Given the description of an element on the screen output the (x, y) to click on. 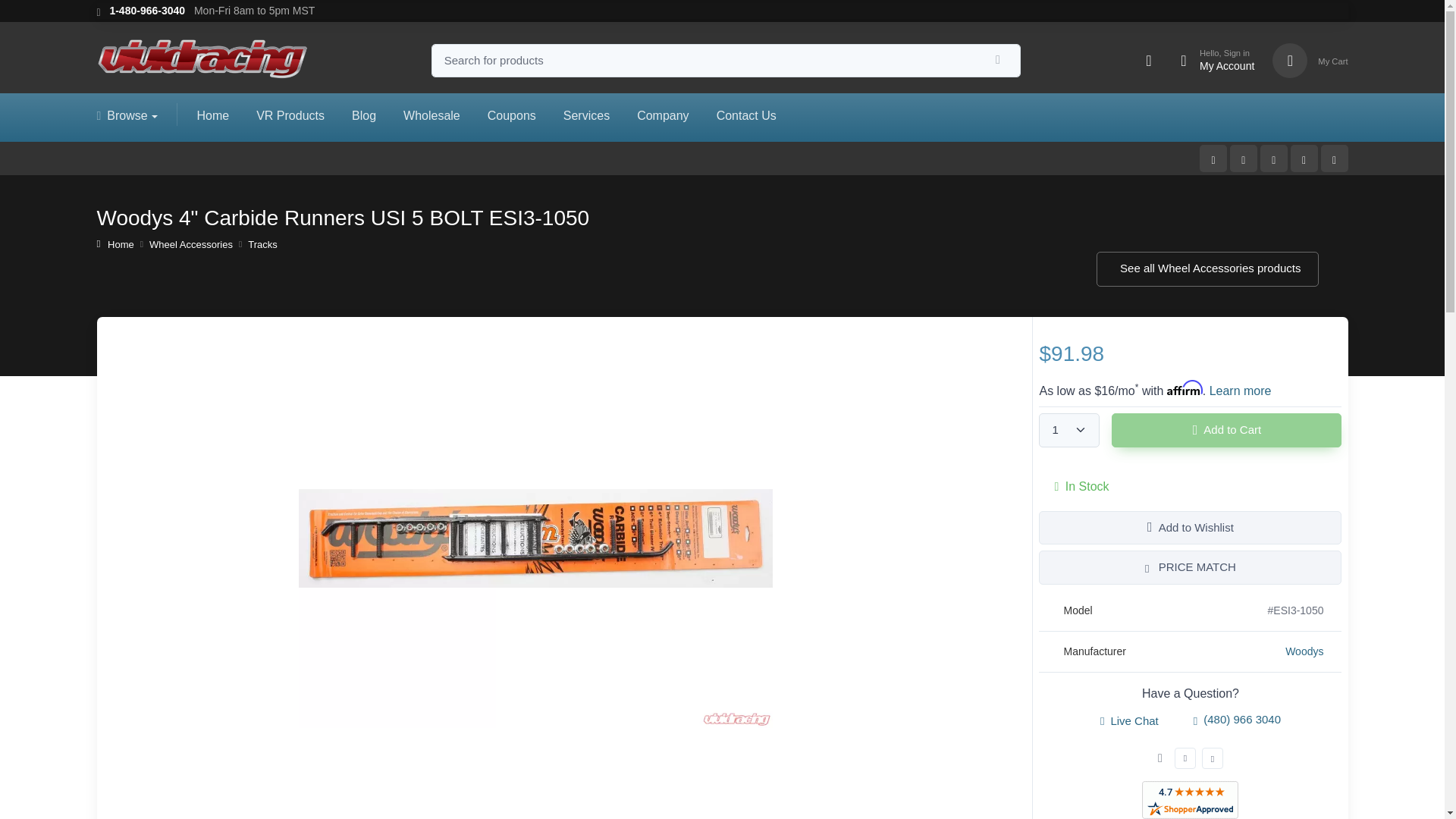
1-480-966-3040 (1209, 60)
Browse (146, 10)
